Given the description of an element on the screen output the (x, y) to click on. 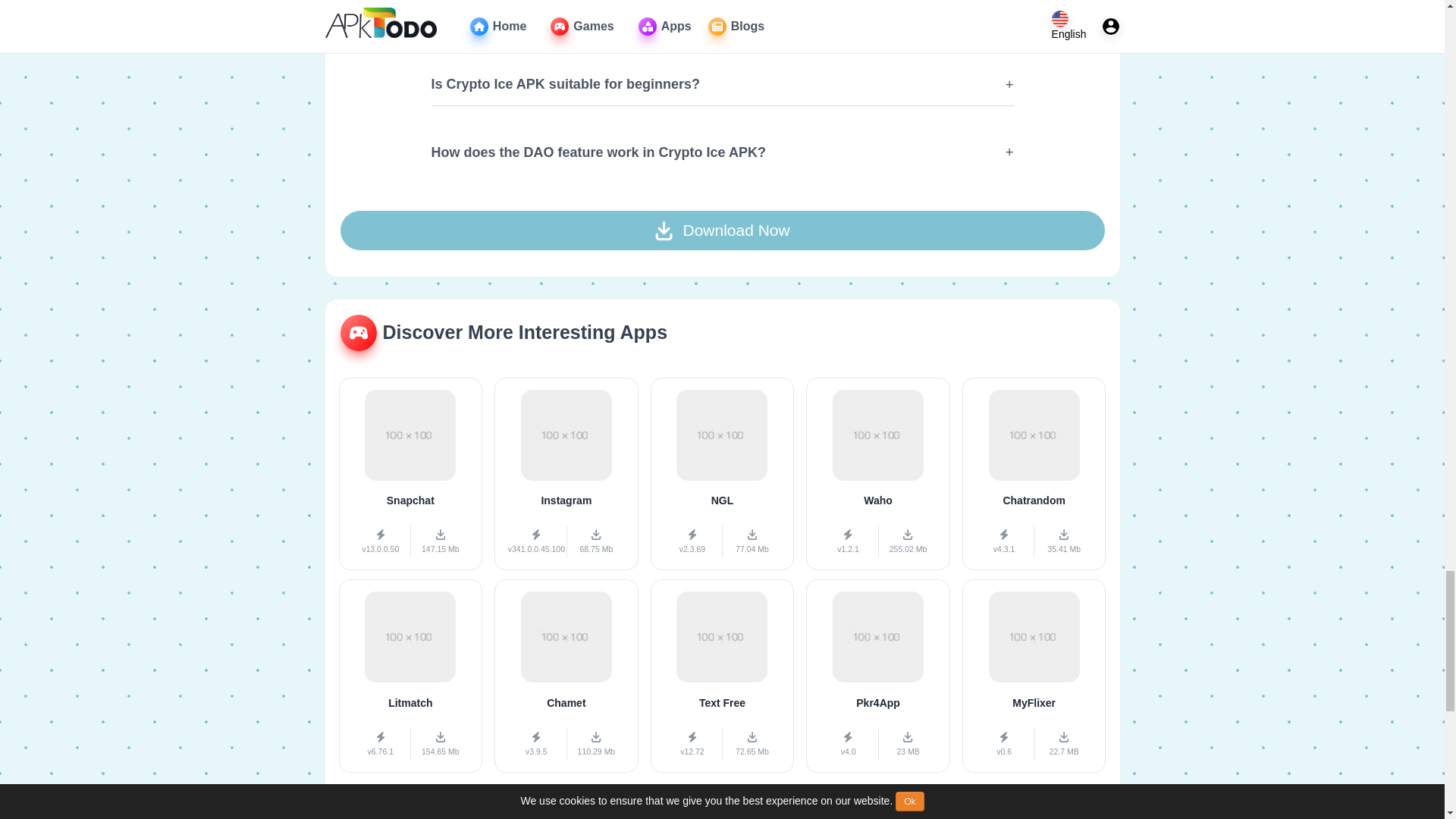
Chatrandom (1034, 473)
Chamet (567, 676)
Snapchat (409, 473)
Litmatch (409, 676)
Text Free (722, 676)
MyFlixer (1034, 676)
Pkr4App (878, 676)
NGL (722, 473)
Instagram (567, 473)
Waho (878, 473)
